Given the description of an element on the screen output the (x, y) to click on. 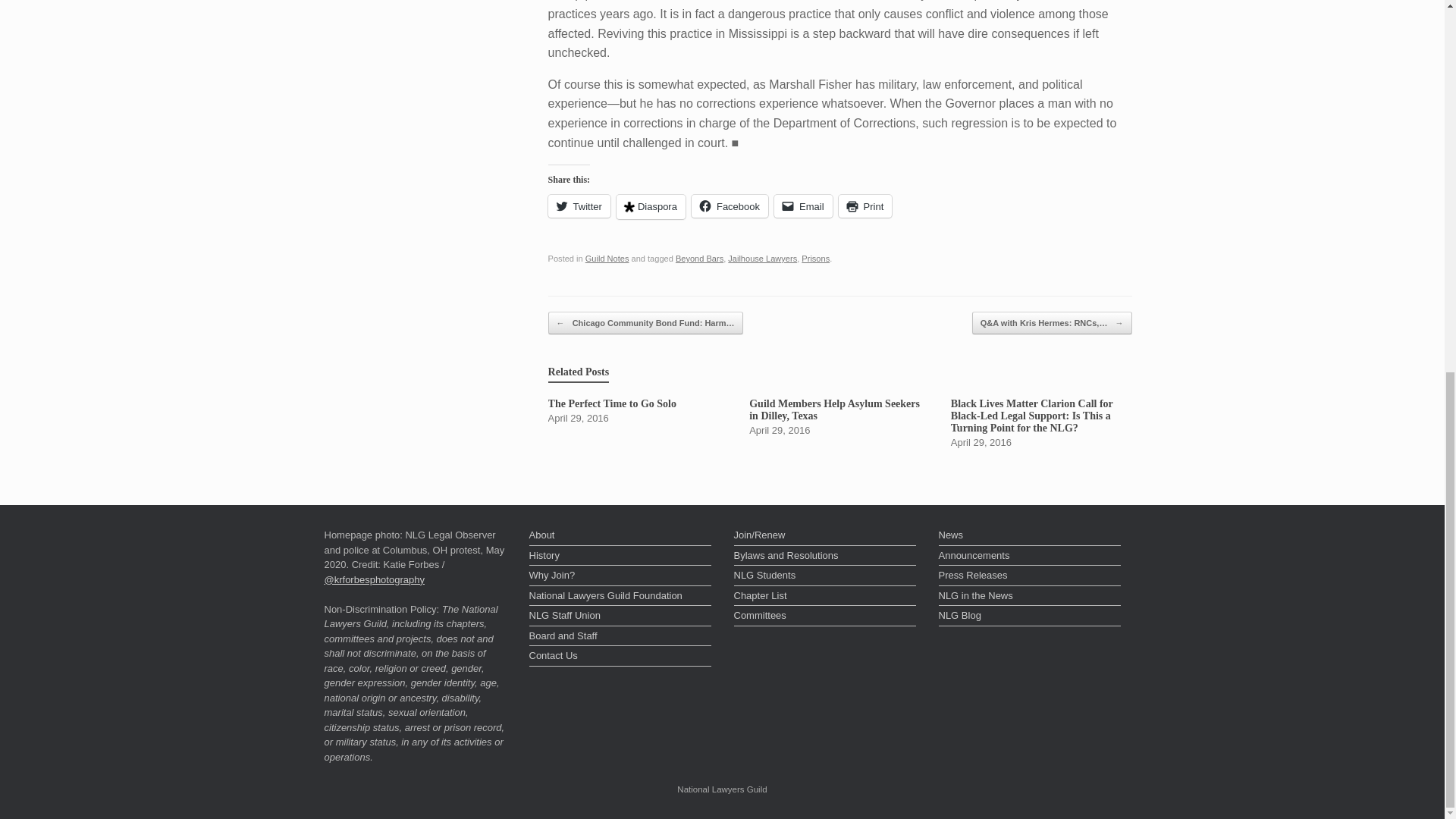
Click to share on Diaspora (650, 206)
Click to share on Twitter (579, 205)
The Perfect Time to Go Solo (638, 411)
Click to print (865, 205)
Click to email a link to a friend (803, 205)
Click to share on Facebook (729, 205)
Guild Members Help Asylum Seekers in Dilley, Texas (839, 416)
